Given the description of an element on the screen output the (x, y) to click on. 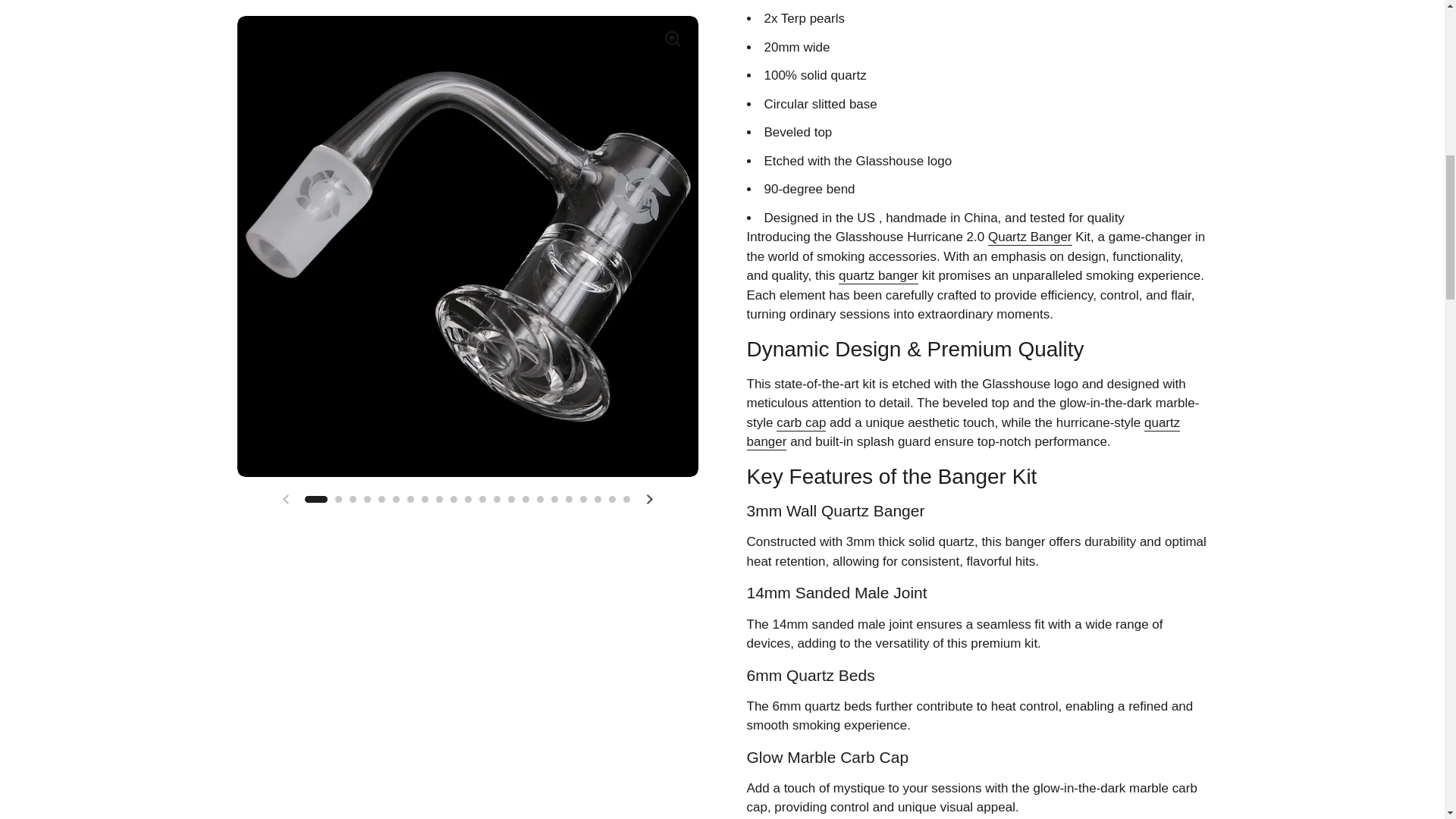
carb cap (800, 423)
quartz banger (962, 433)
Quartz Banger (1029, 237)
quartz banger (878, 276)
